Given the description of an element on the screen output the (x, y) to click on. 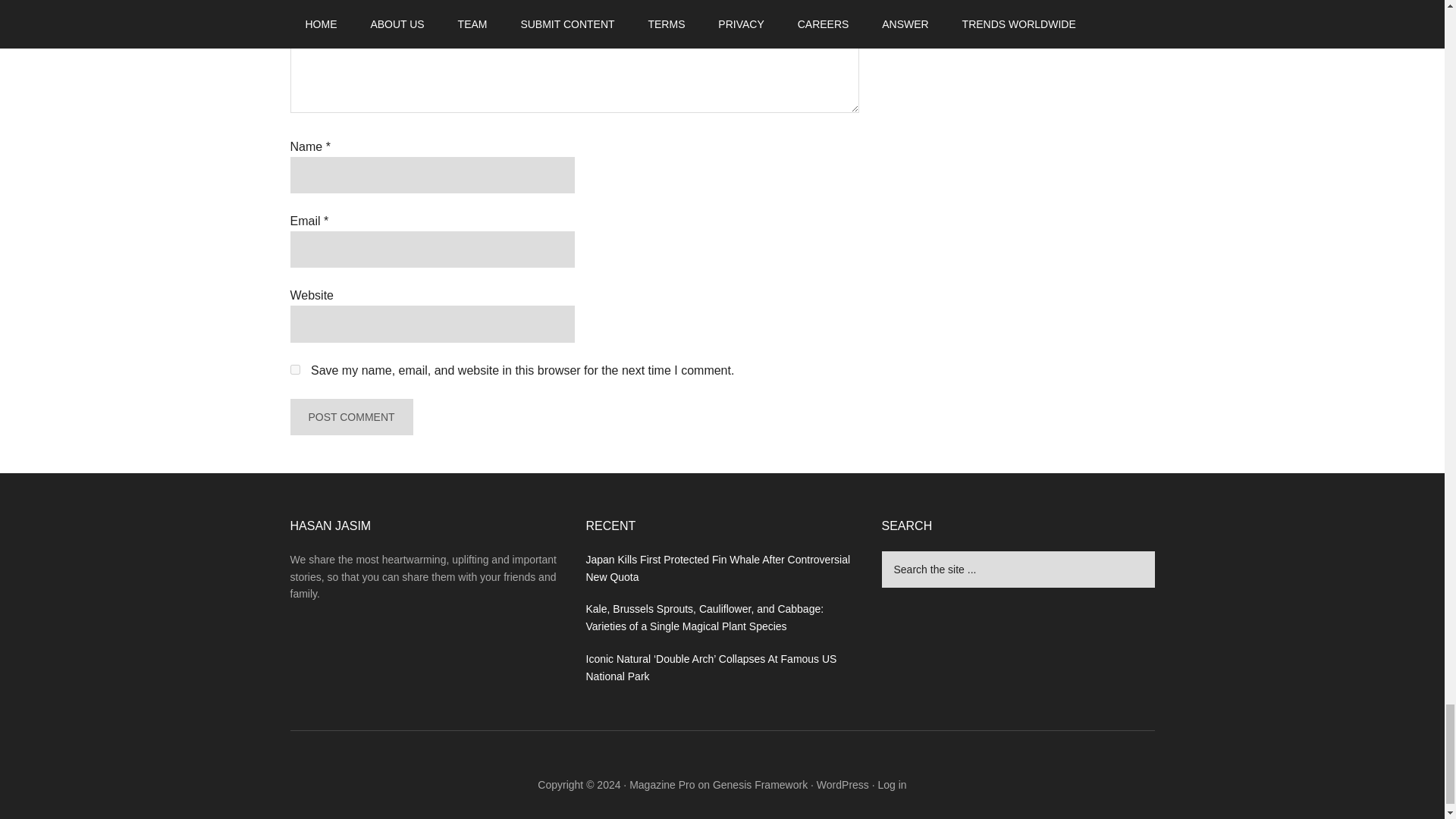
Post Comment (350, 416)
yes (294, 369)
Post Comment (350, 416)
